Given the description of an element on the screen output the (x, y) to click on. 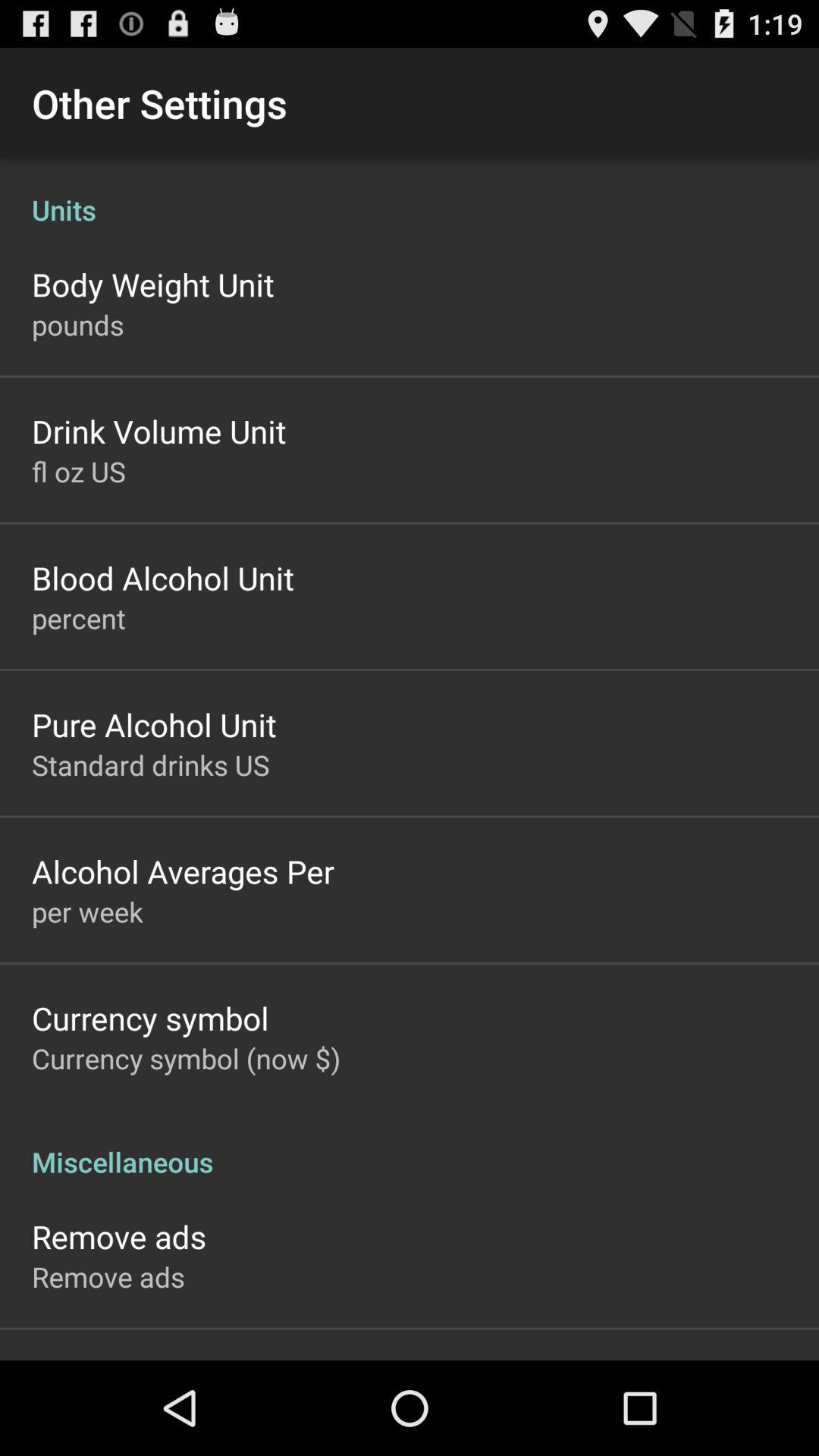
select percent item (78, 618)
